Given the description of an element on the screen output the (x, y) to click on. 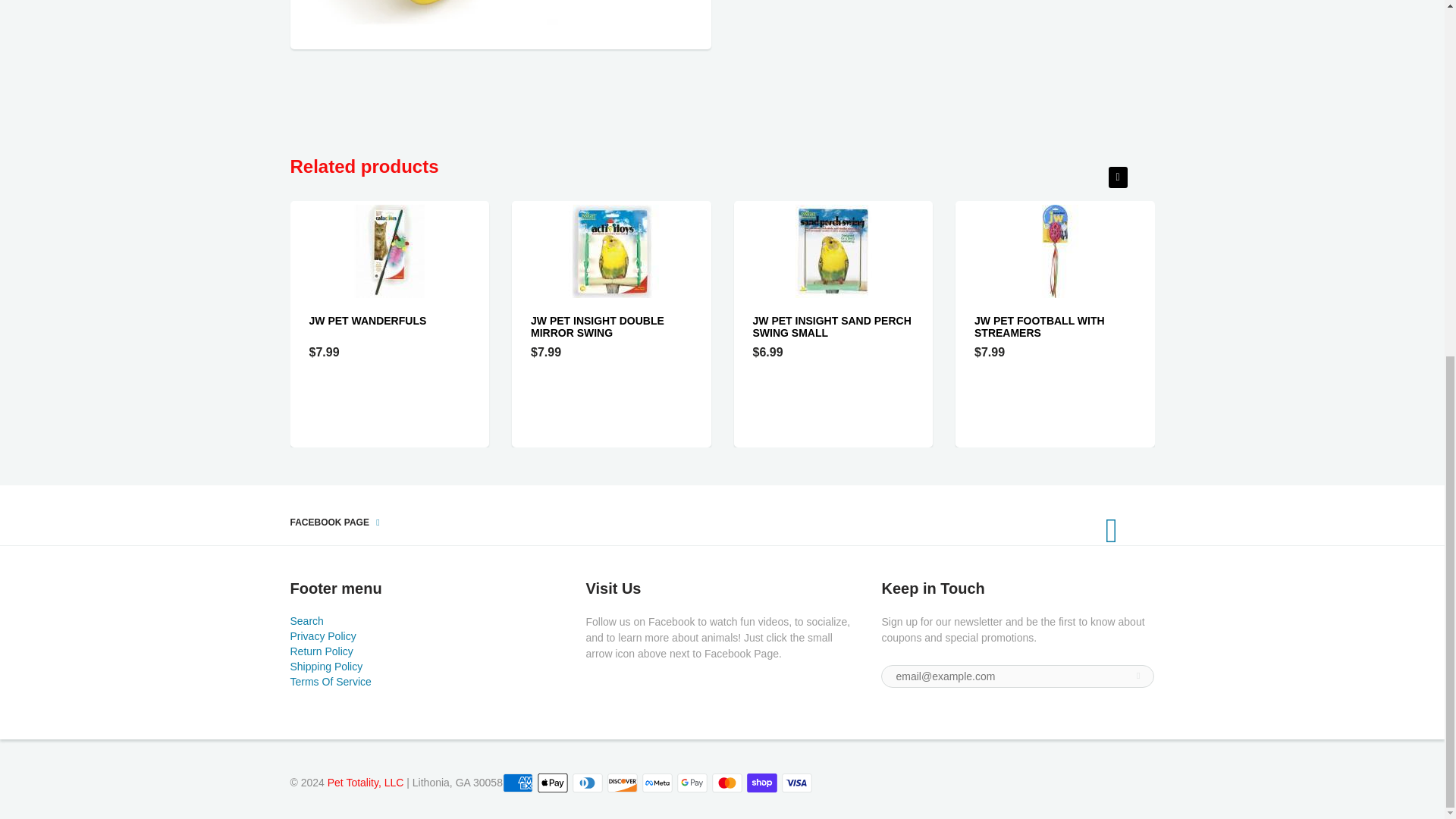
Apple Pay (552, 782)
Meta Pay (657, 782)
Diners Club (587, 782)
Mastercard (726, 782)
Booda Looney Loops Display Tray - Pet Totality (500, 13)
Visa (796, 782)
Shop Pay (761, 782)
American Express (517, 782)
Google Pay (692, 782)
Discover (622, 782)
